Given the description of an element on the screen output the (x, y) to click on. 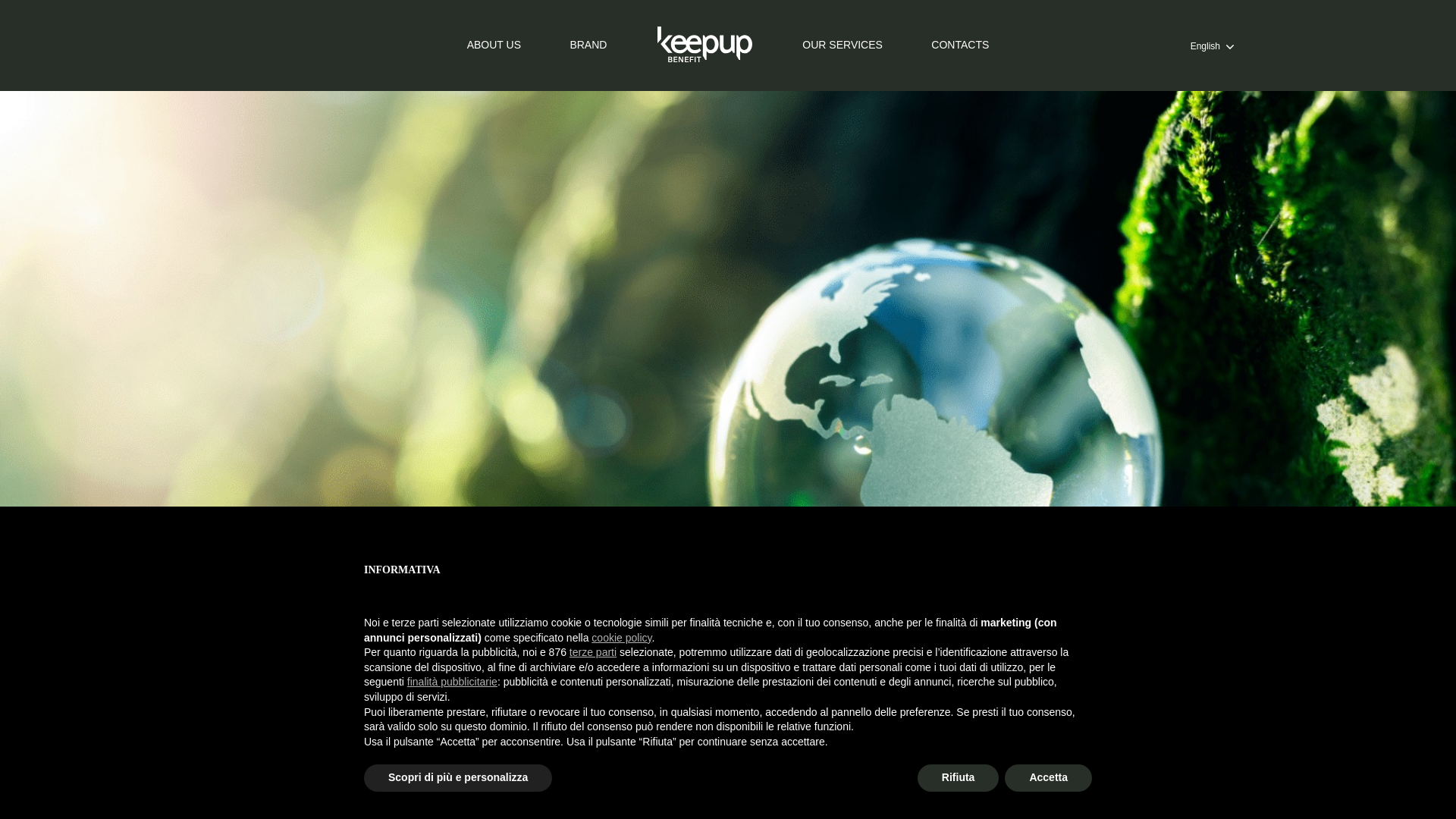
OUR SERVICES (842, 44)
cookie policy (620, 637)
ABOUT US (494, 44)
English (1212, 45)
Accetta (1048, 777)
Rifiuta (957, 777)
CONTACTS (959, 44)
terze parti (592, 652)
BRAND (588, 44)
